Given the description of an element on the screen output the (x, y) to click on. 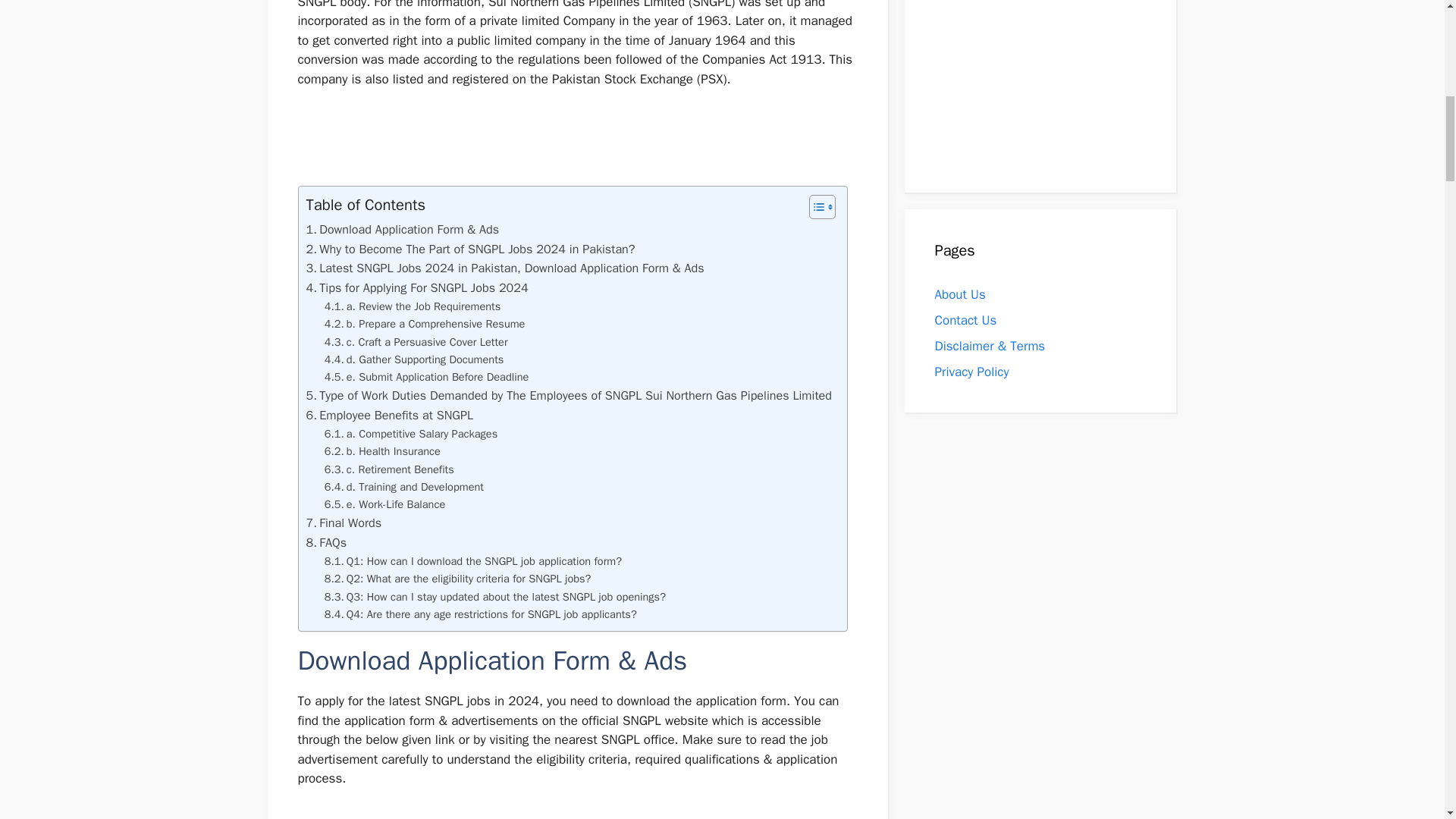
d. Gather Supporting Documents (413, 359)
a. Competitive Salary Packages (410, 434)
a. Review the Job Requirements (412, 306)
Tips for Applying For SNGPL Jobs 2024 (416, 288)
e. Submit Application Before Deadline (426, 376)
Employee Benefits at SNGPL (389, 415)
c. Craft a Persuasive Cover Letter (416, 342)
b. Prepare a Comprehensive Resume (424, 323)
Why to Become The Part of SNGPL Jobs 2024 in Pakistan? (469, 249)
